Given the description of an element on the screen output the (x, y) to click on. 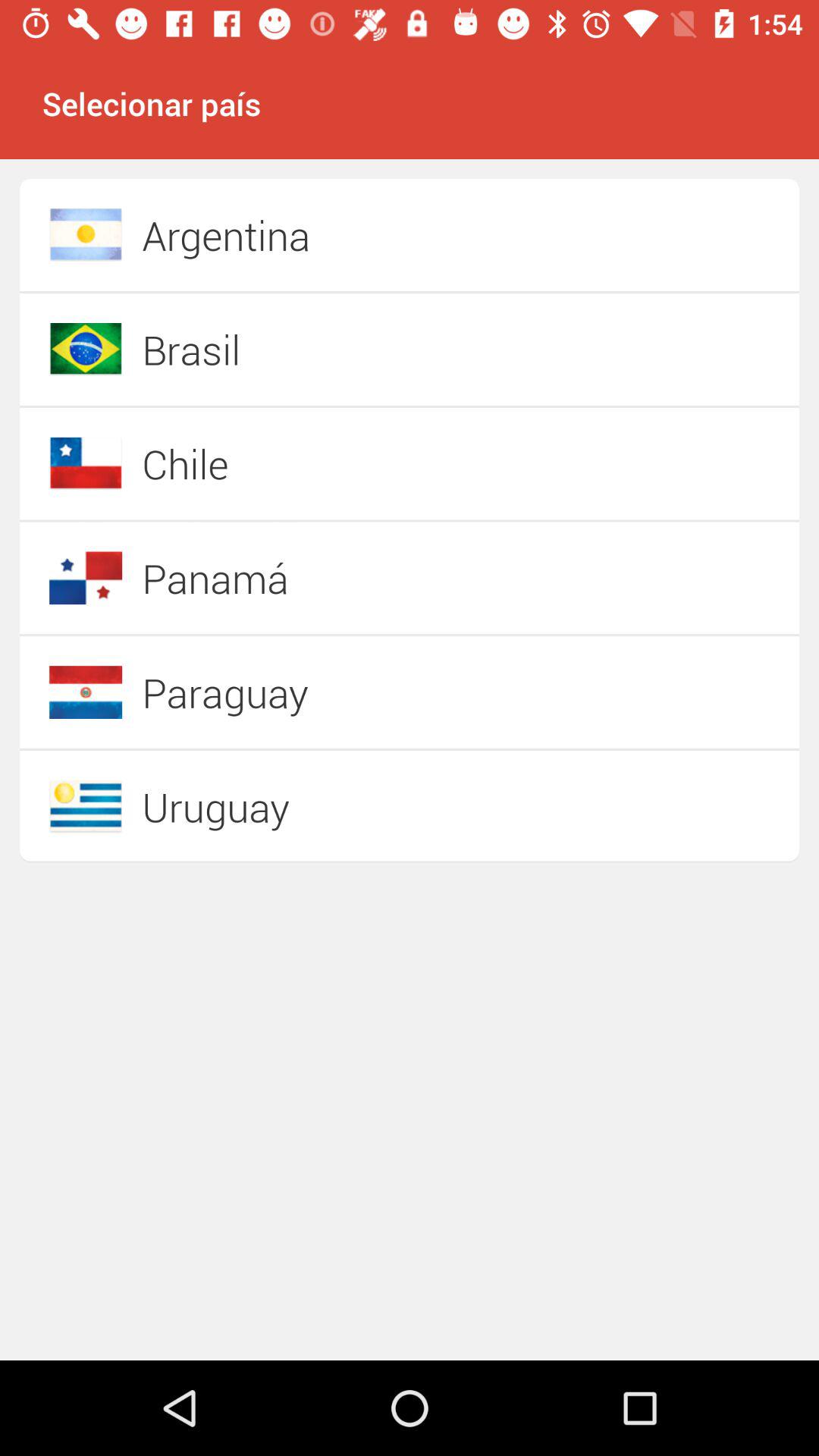
turn off the uruguay icon (356, 806)
